Given the description of an element on the screen output the (x, y) to click on. 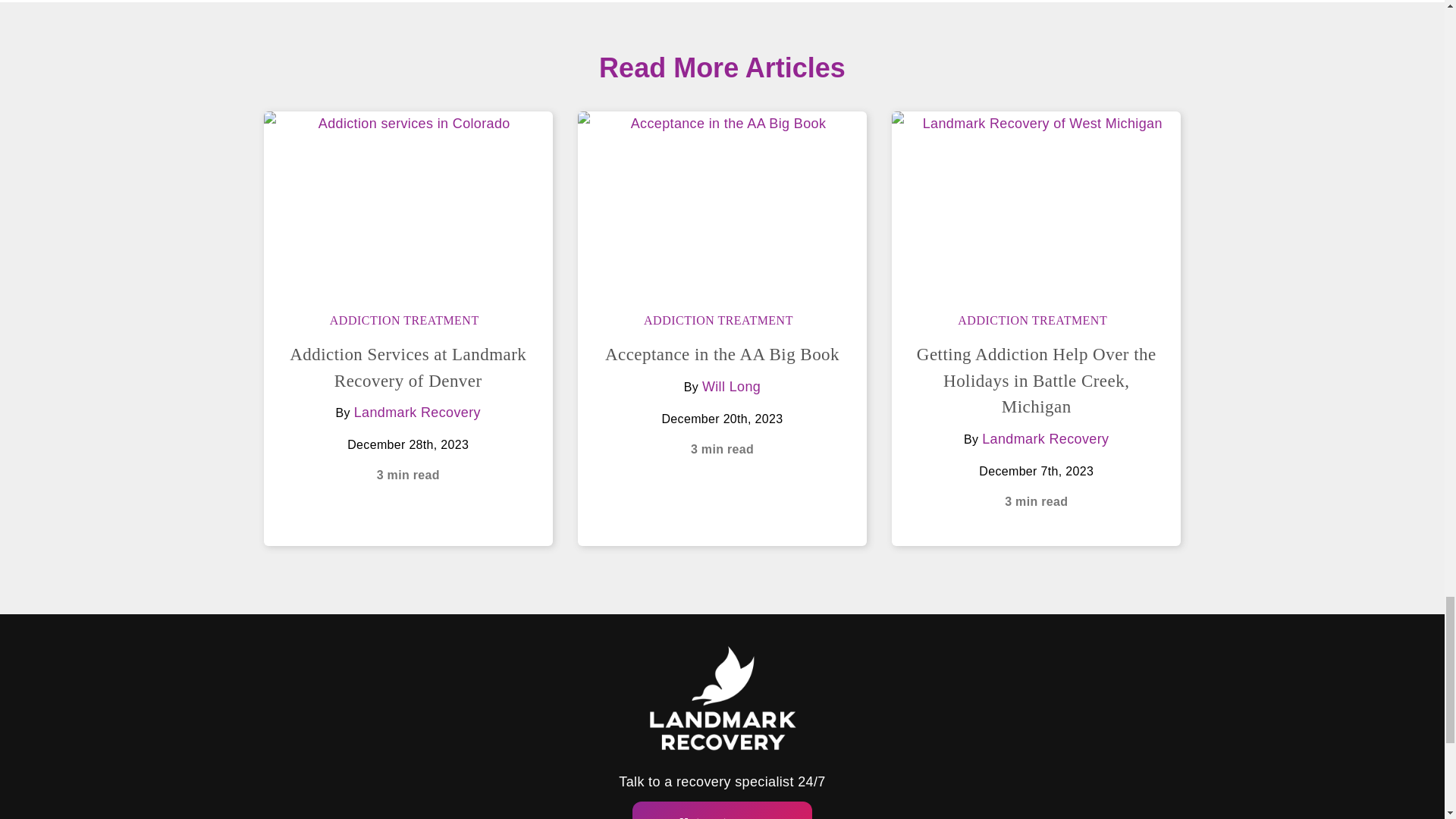
Landmark Recovery (416, 412)
Permanent Link to Acceptance in the AA Big Book (722, 353)
Landmark Recovery (1044, 438)
Permanent Link to Acceptance in the AA Big Book (722, 202)
Will Long (730, 386)
